Given the description of an element on the screen output the (x, y) to click on. 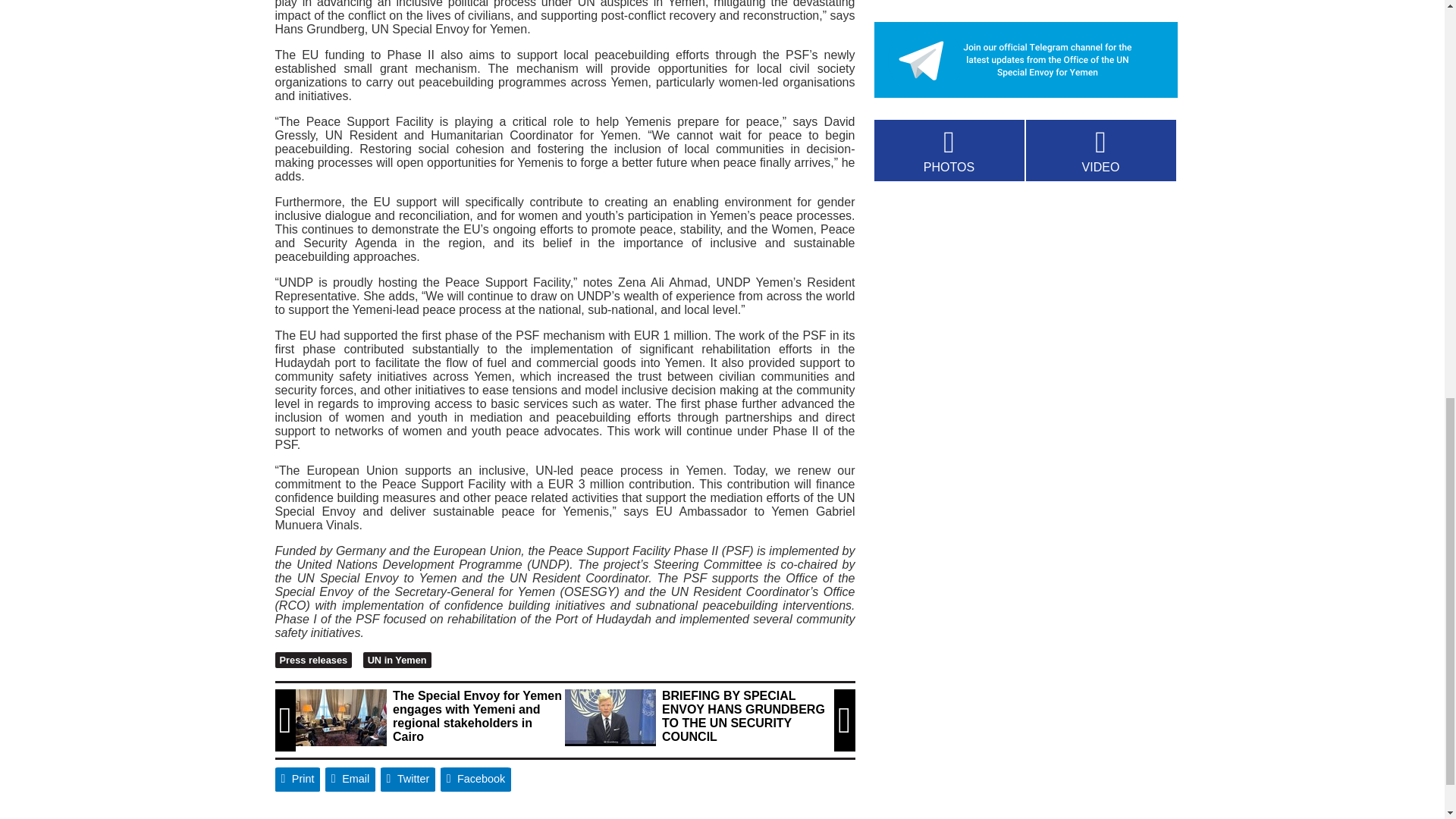
Print (297, 779)
Email (349, 779)
Facebook (476, 779)
Twitter (407, 779)
